Given the description of an element on the screen output the (x, y) to click on. 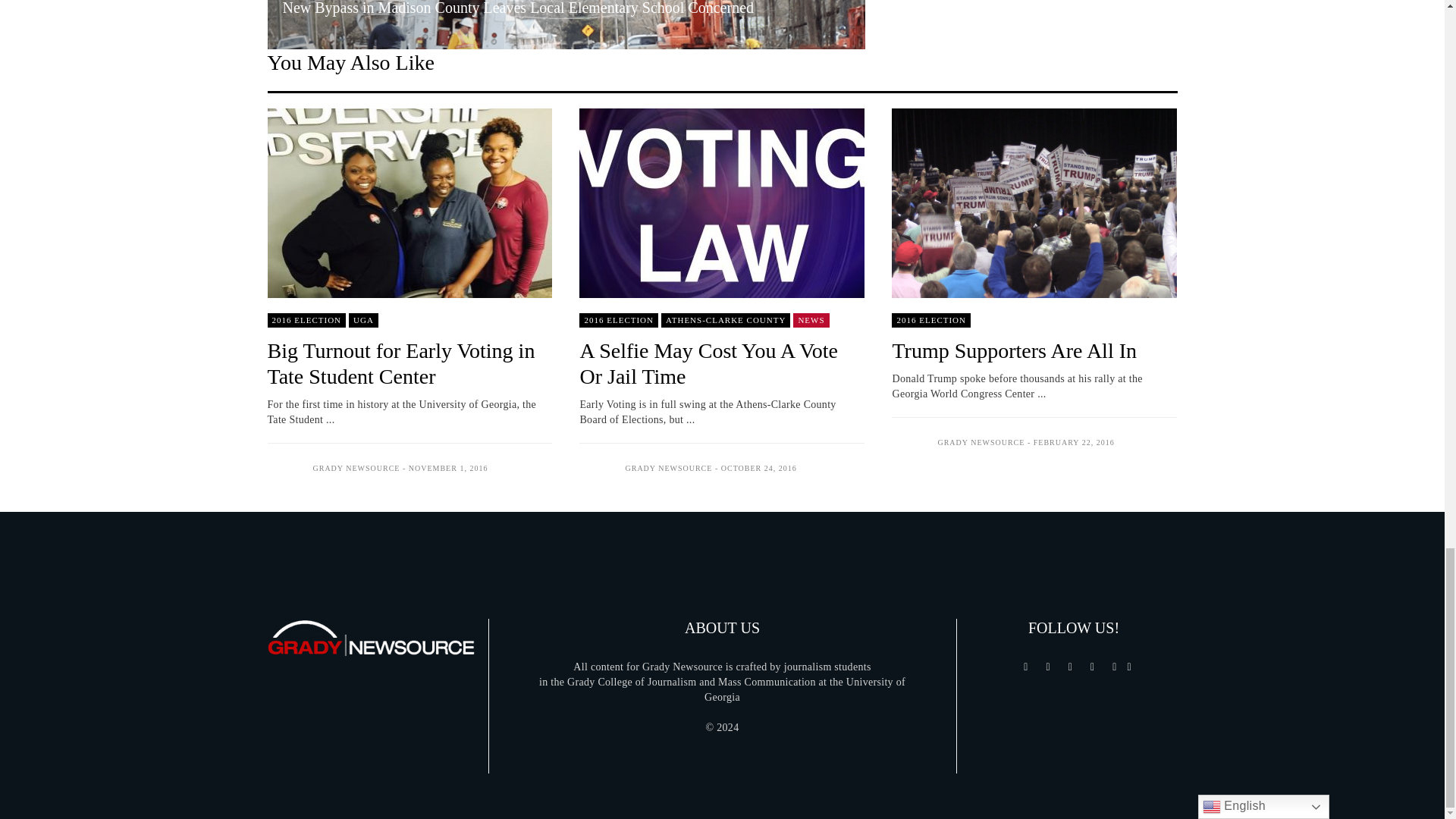
View all posts in 2363 (931, 319)
View all posts in 30 (725, 319)
View all posts in 2363 (618, 319)
View all posts in 26 (810, 319)
View all posts in 35 (363, 319)
View all posts in 2363 (306, 319)
